Given the description of an element on the screen output the (x, y) to click on. 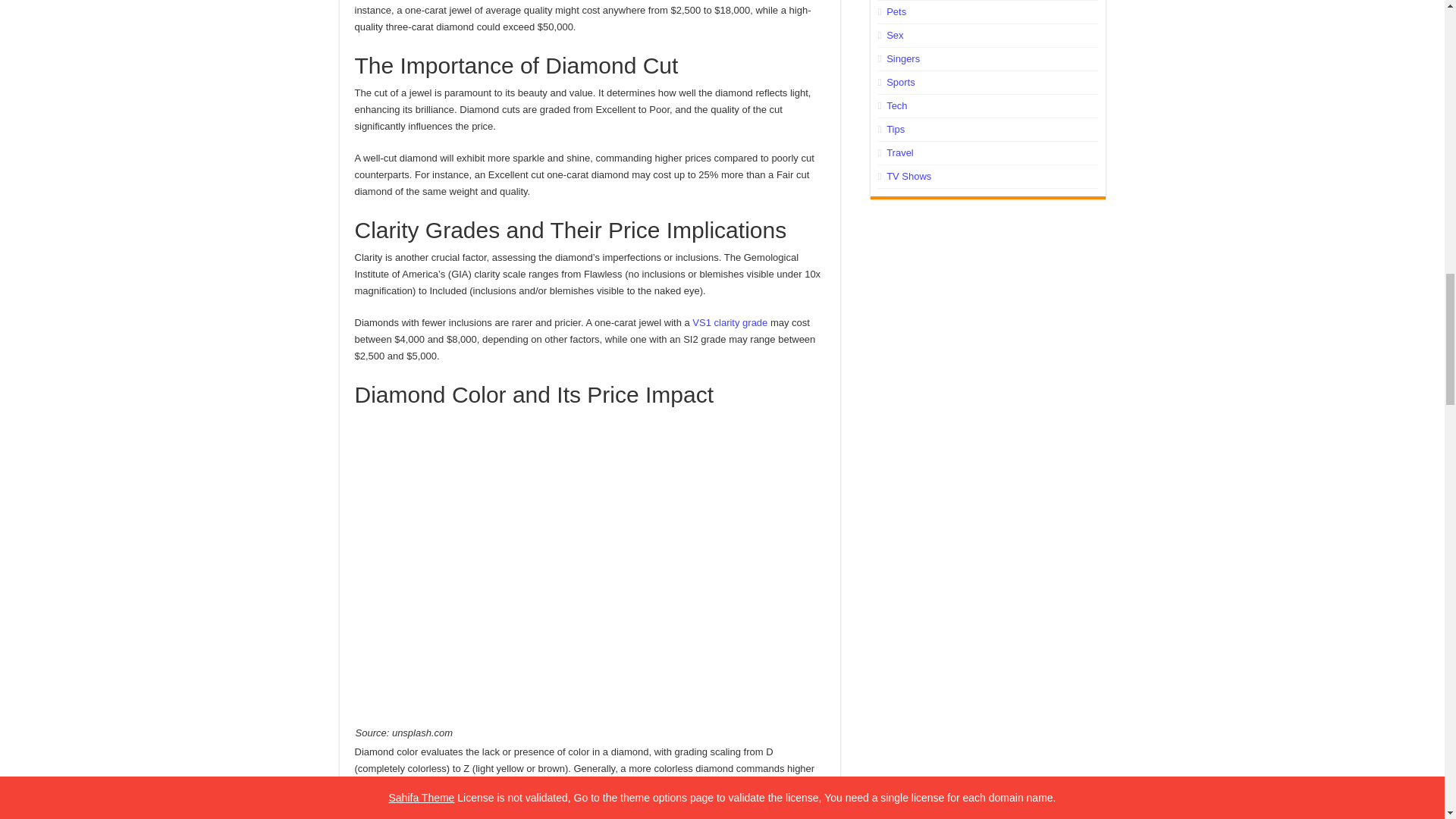
VS1 clarity grade (730, 322)
D color grade (657, 785)
